Given the description of an element on the screen output the (x, y) to click on. 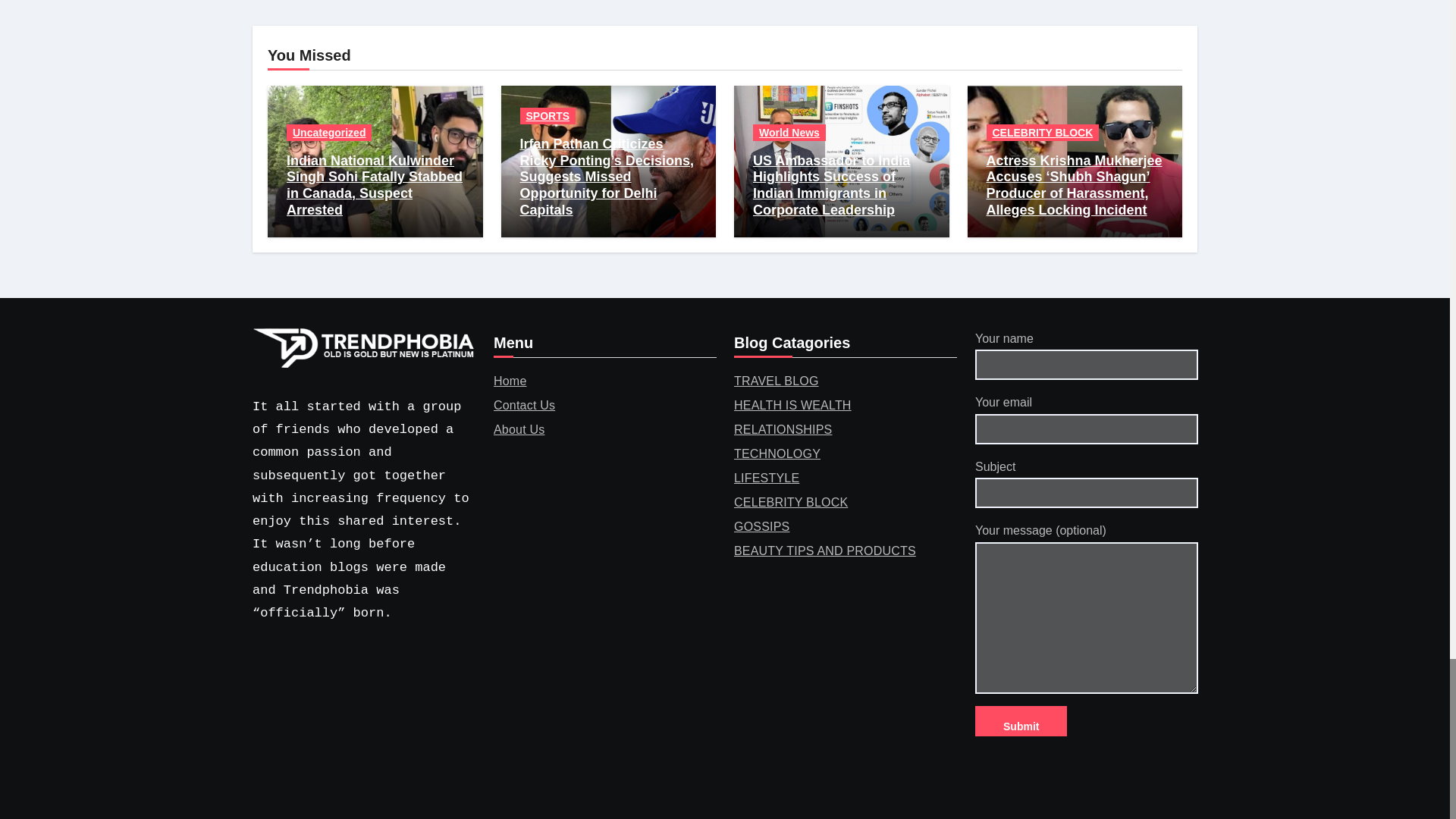
Submit (1021, 720)
